Given the description of an element on the screen output the (x, y) to click on. 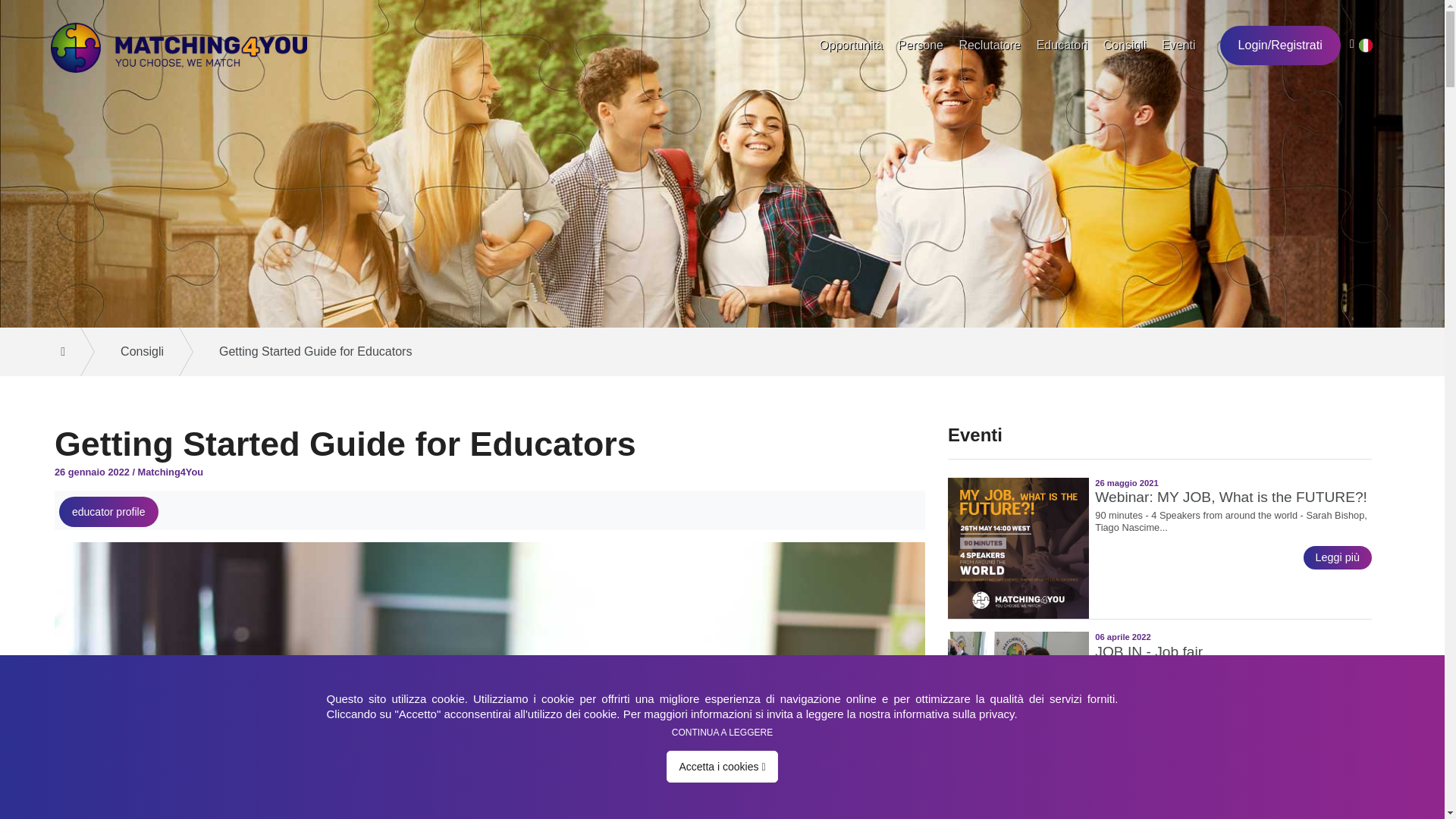
Educatori (1062, 45)
Getting Started Guide for Educators (309, 351)
Consigli (137, 351)
Reclutatore (989, 45)
Educatori (1062, 45)
Accetta i cookies (721, 766)
CONTINUA A LEGGERE (722, 732)
Reclutatore (989, 45)
